Given the description of an element on the screen output the (x, y) to click on. 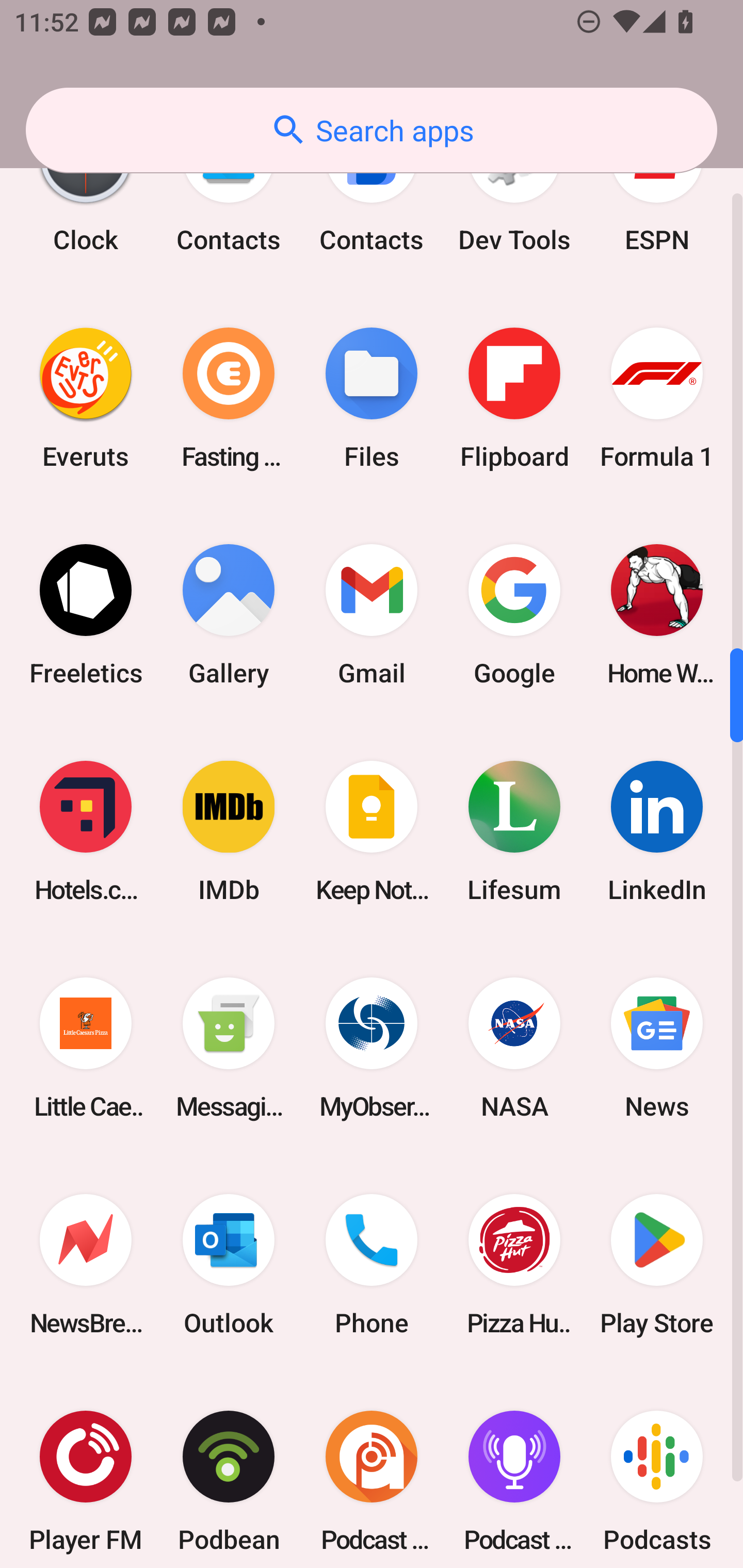
  Search apps (371, 130)
Everuts (85, 398)
Fasting Coach (228, 398)
Files (371, 398)
Flipboard (514, 398)
Formula 1 (656, 398)
Freeletics (85, 614)
Gallery (228, 614)
Gmail (371, 614)
Google (514, 614)
Home Workout (656, 614)
Hotels.com (85, 830)
IMDb (228, 830)
Keep Notes (371, 830)
Lifesum (514, 830)
LinkedIn (656, 830)
Little Caesars Pizza (85, 1048)
Messaging (228, 1048)
MyObservatory (371, 1048)
NASA (514, 1048)
News (656, 1048)
NewsBreak (85, 1265)
Outlook (228, 1265)
Phone (371, 1265)
Pizza Hut HK & Macau (514, 1265)
Play Store (656, 1265)
Player FM (85, 1470)
Podbean (228, 1470)
Podcast Addict (371, 1470)
Podcast Player (514, 1470)
Podcasts (656, 1470)
